Given the description of an element on the screen output the (x, y) to click on. 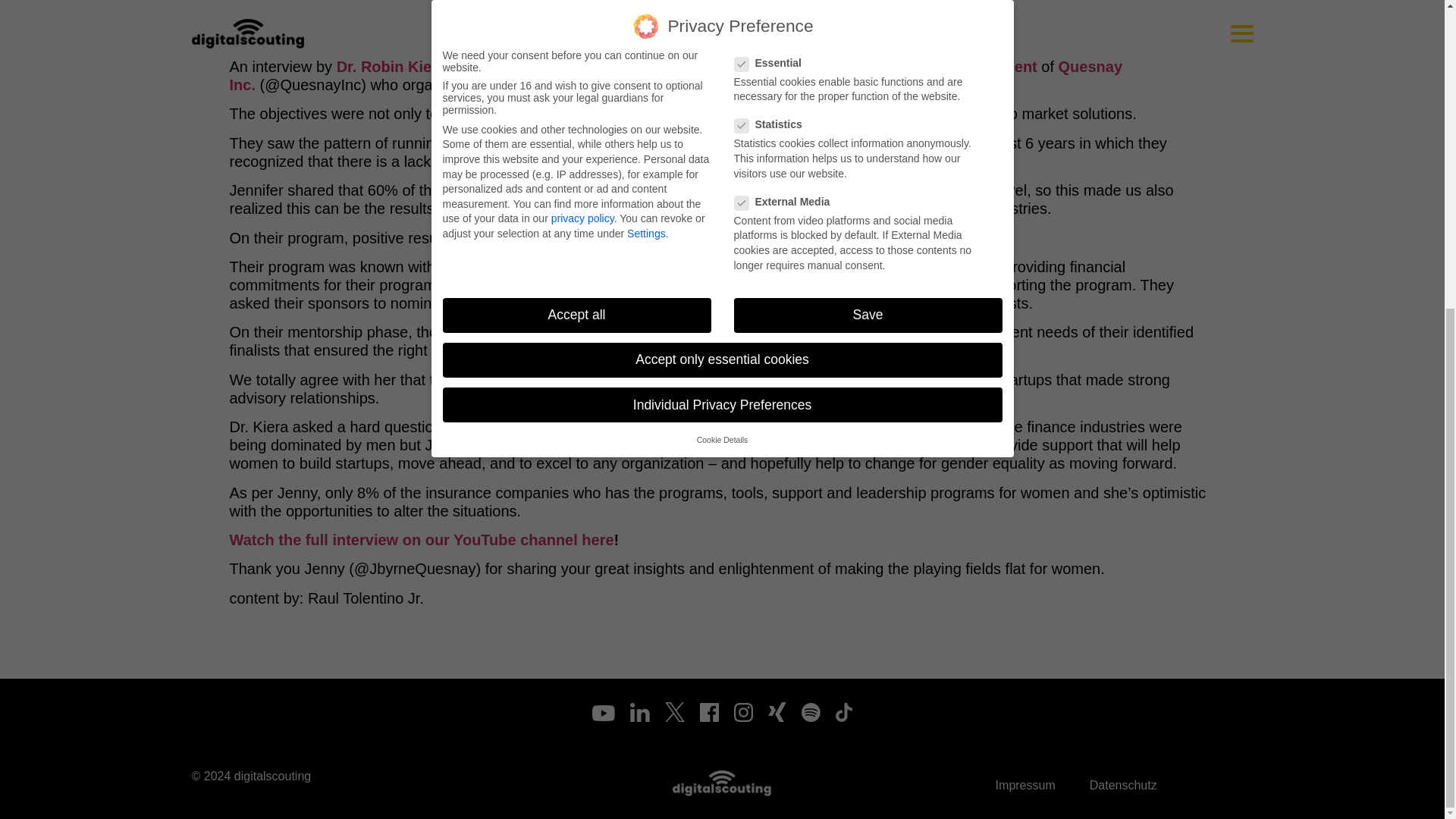
Watch the full interview on our YouTube channel here (420, 539)
Jennifer Byrne the Co-Founder and President (872, 66)
Chatbot (1383, 269)
Quesnay Inc. (675, 75)
Datenschutz (1123, 784)
Impressum (1025, 784)
YouTube channel (555, 66)
Dr. Robin Kiera (390, 66)
